Given the description of an element on the screen output the (x, y) to click on. 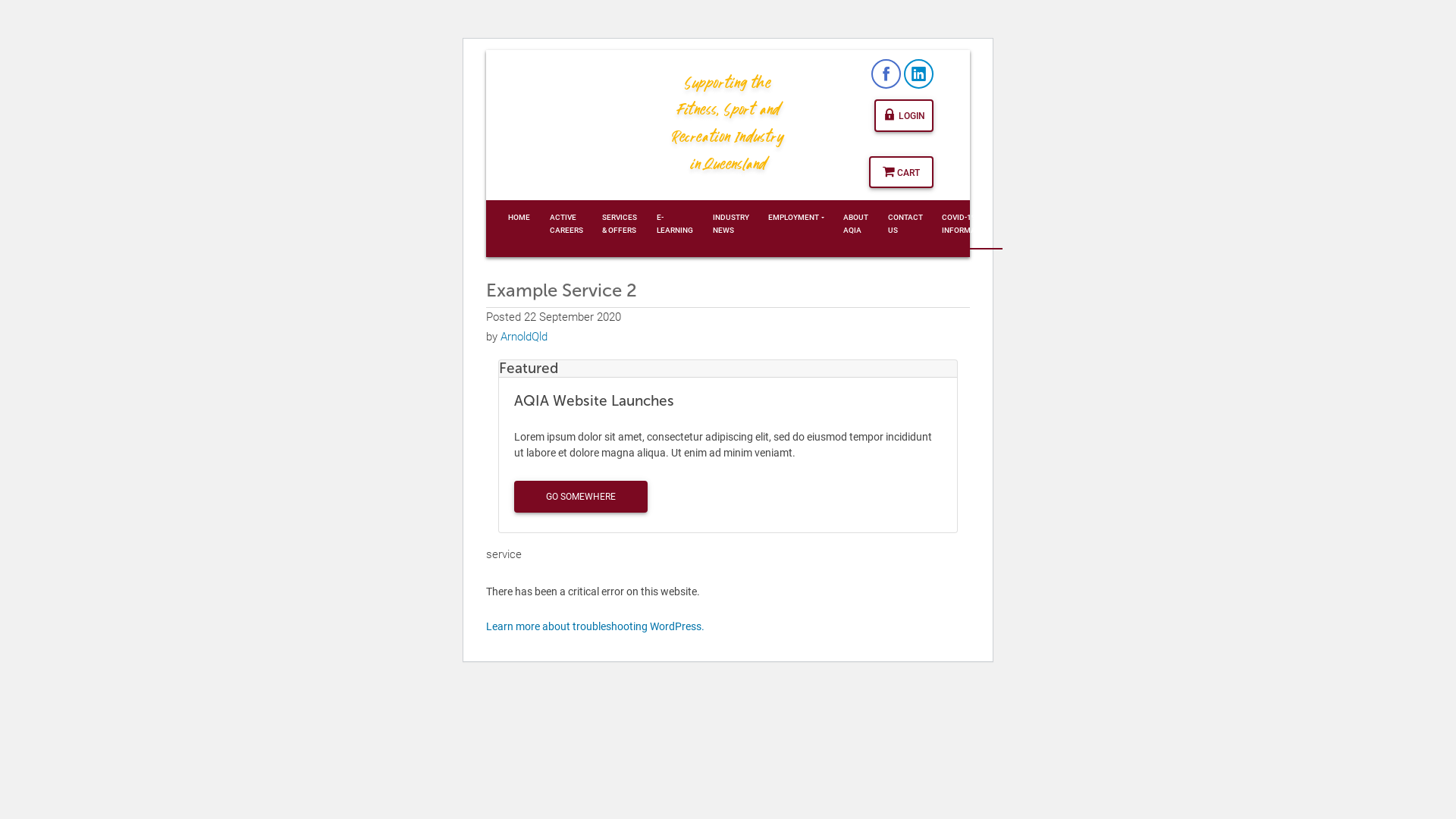
CART Element type: text (897, 171)
CONTACT US Element type: text (904, 223)
LOGIN Element type: text (903, 115)
COVID-19 INFORMATION Element type: text (966, 223)
EMPLOYMENT Element type: text (795, 217)
GO SOMEWHERE Element type: text (580, 496)
ABOUT AQIA Element type: text (855, 223)
LOGIN Element type: text (903, 115)
ArnoldQld Element type: text (522, 336)
Learn more about troubleshooting WordPress. Element type: text (595, 626)
SERVICES & OFFERS Element type: text (619, 223)
Skip to content Element type: text (969, 49)
ACTIVE CAREERS Element type: text (566, 223)
CART Element type: text (901, 172)
INDUSTRY NEWS Element type: text (730, 223)
HOME Element type: text (519, 217)
E-LEARNING Element type: text (674, 223)
